Given the description of an element on the screen output the (x, y) to click on. 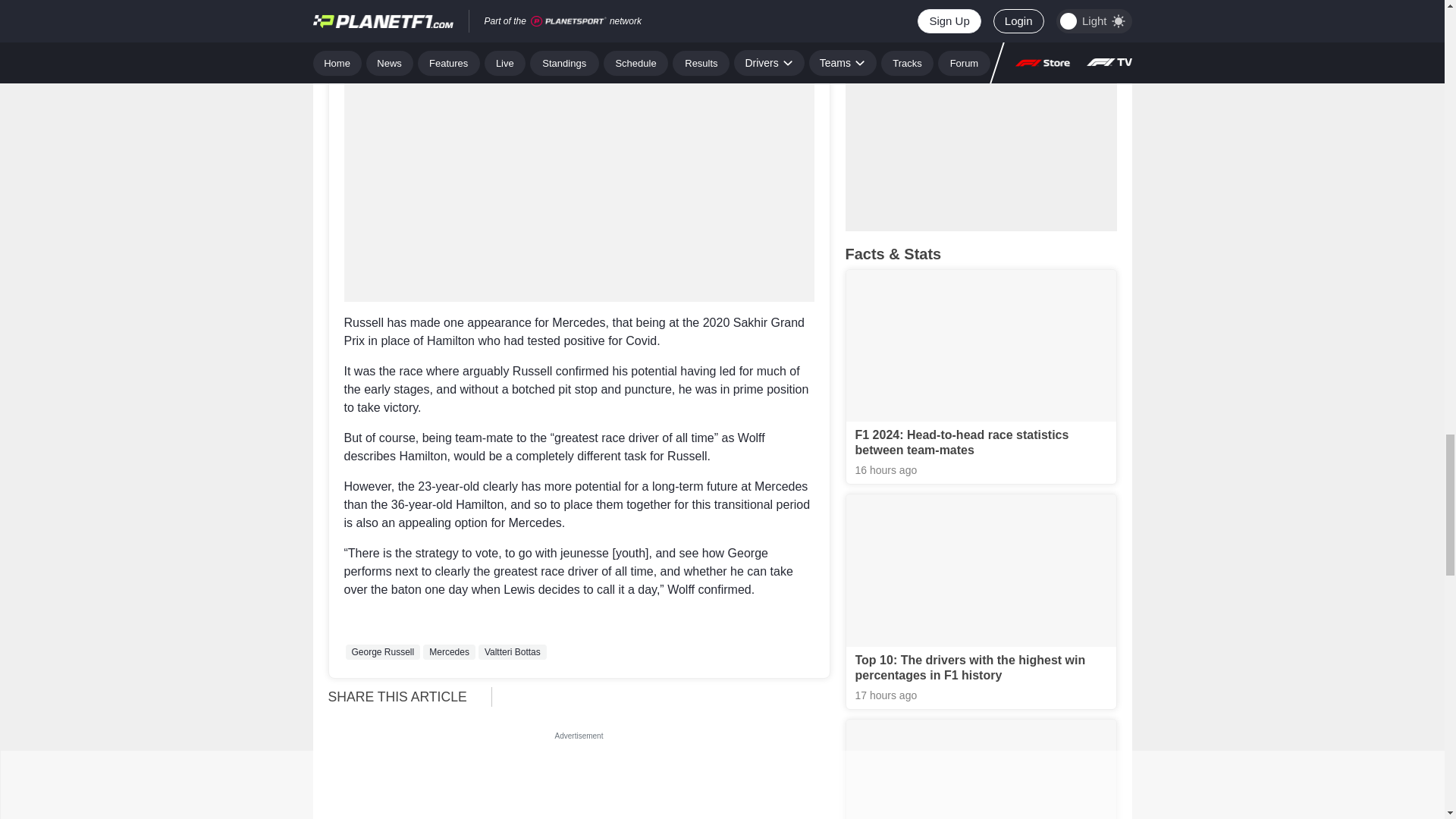
Vuukle Sharebar Widget (666, 695)
3rd party ad content (579, 781)
3rd party ad content (579, 9)
